Given the description of an element on the screen output the (x, y) to click on. 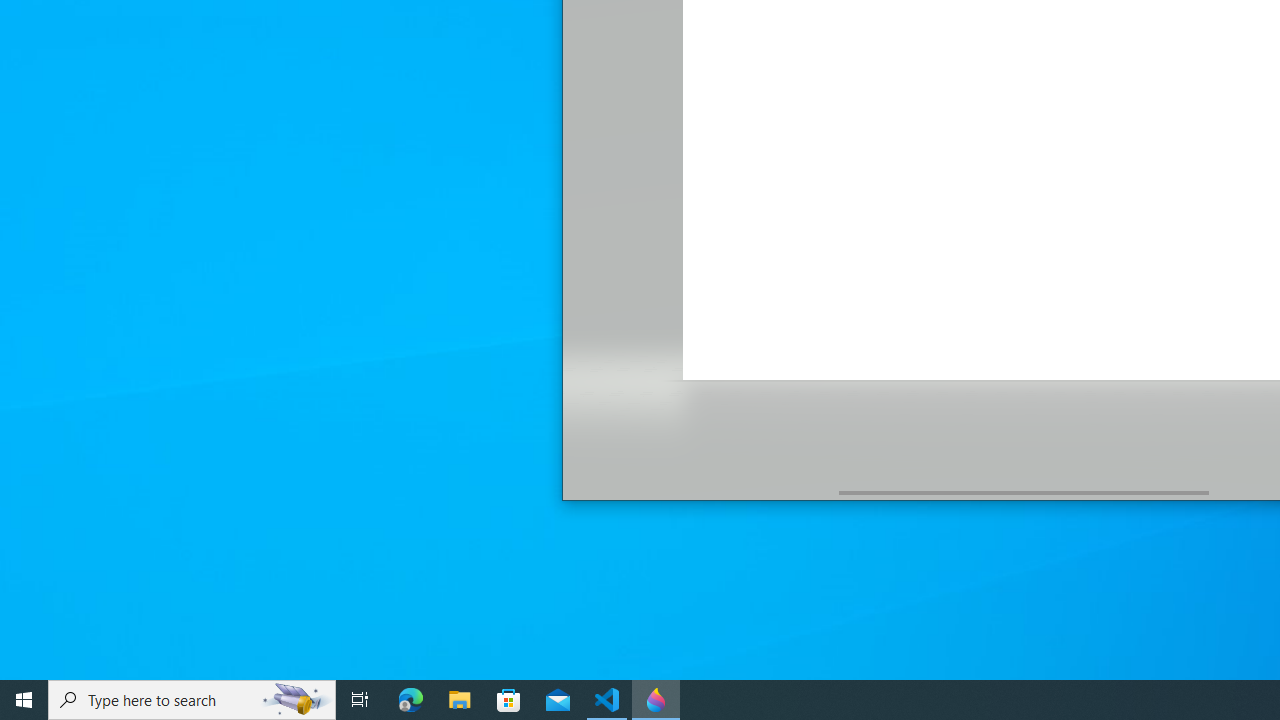
Horizontal Large Decrease (700, 492)
Paint 3D - 1 running window (656, 699)
